Given the description of an element on the screen output the (x, y) to click on. 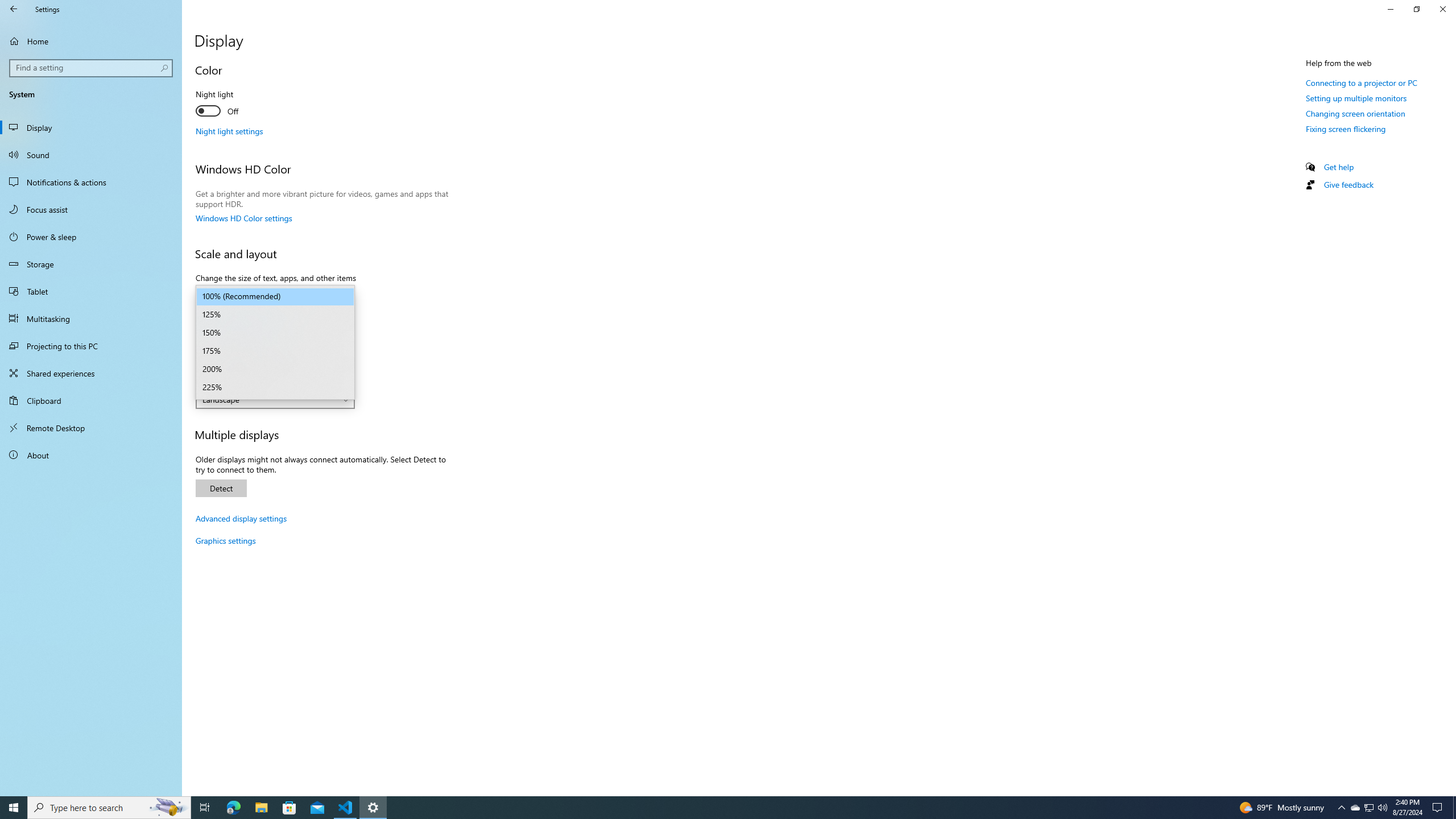
Display resolution (275, 359)
Remote Desktop (91, 427)
Fixing screen flickering (1346, 128)
Restore Settings (1416, 9)
Multitasking (91, 318)
Close Settings (1442, 9)
About (91, 454)
Display (91, 126)
Advanced scaling settings (240, 317)
Night light settings (229, 130)
Running applications (717, 807)
100% (Recommended) (274, 296)
